Given the description of an element on the screen output the (x, y) to click on. 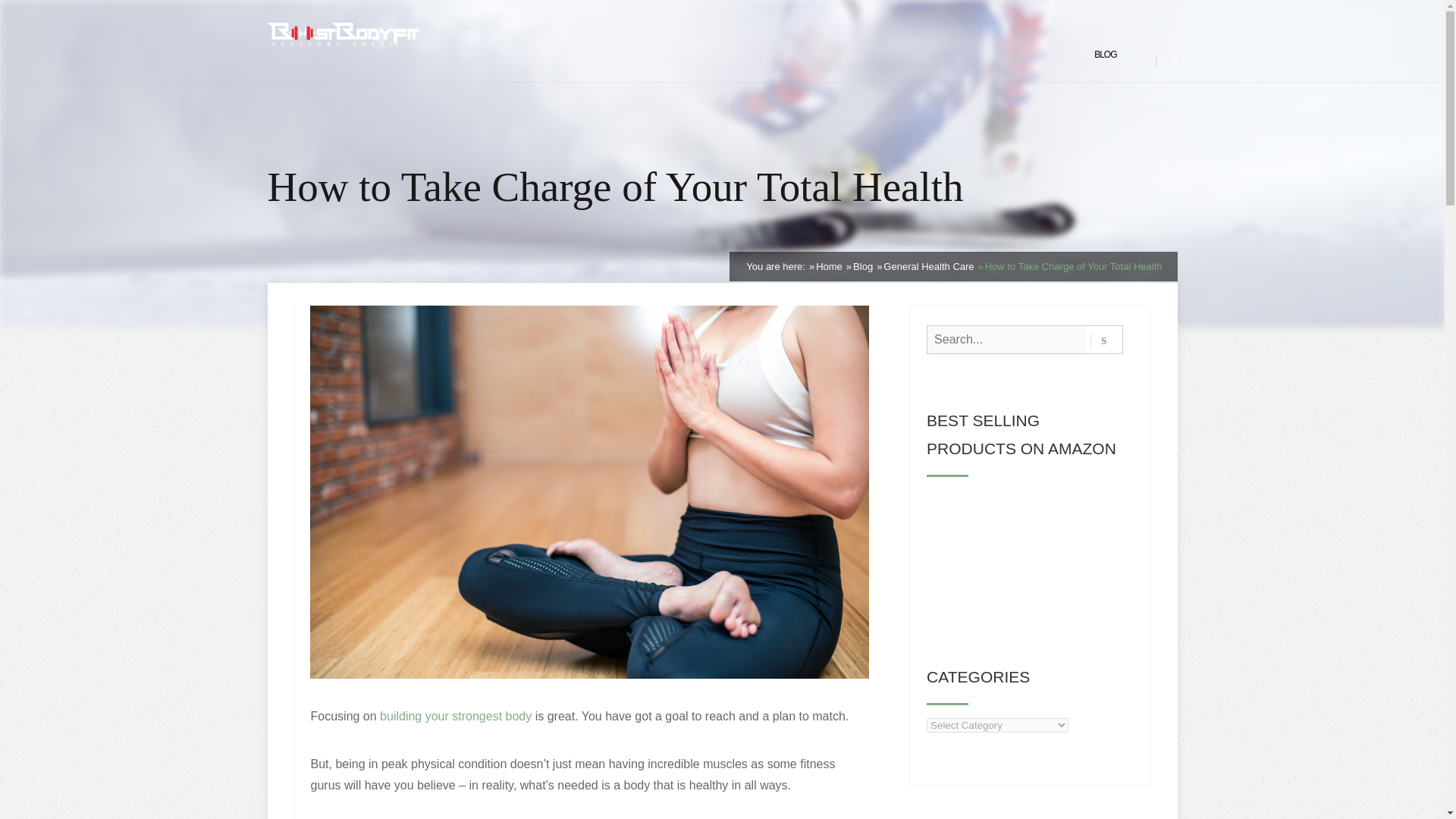
Home (829, 266)
BLOG (1105, 54)
General Health Care (928, 266)
Blog (862, 266)
building your strongest body (455, 716)
